Given the description of an element on the screen output the (x, y) to click on. 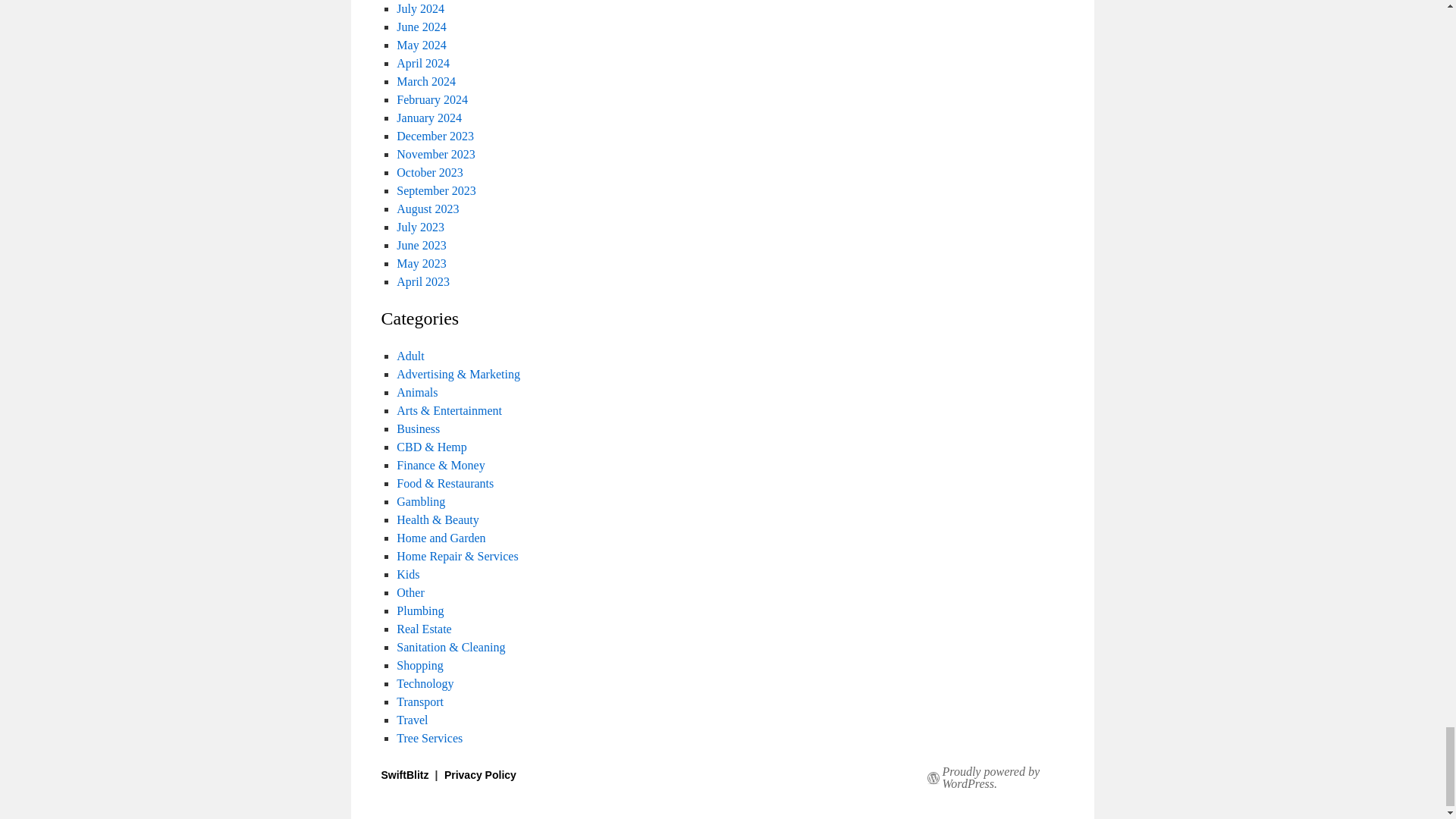
September 2023 (436, 190)
May 2023 (420, 263)
August 2023 (427, 208)
April 2023 (422, 281)
April 2024 (422, 62)
July 2024 (420, 8)
June 2024 (420, 26)
December 2023 (435, 135)
February 2024 (431, 99)
June 2023 (420, 245)
